Given the description of an element on the screen output the (x, y) to click on. 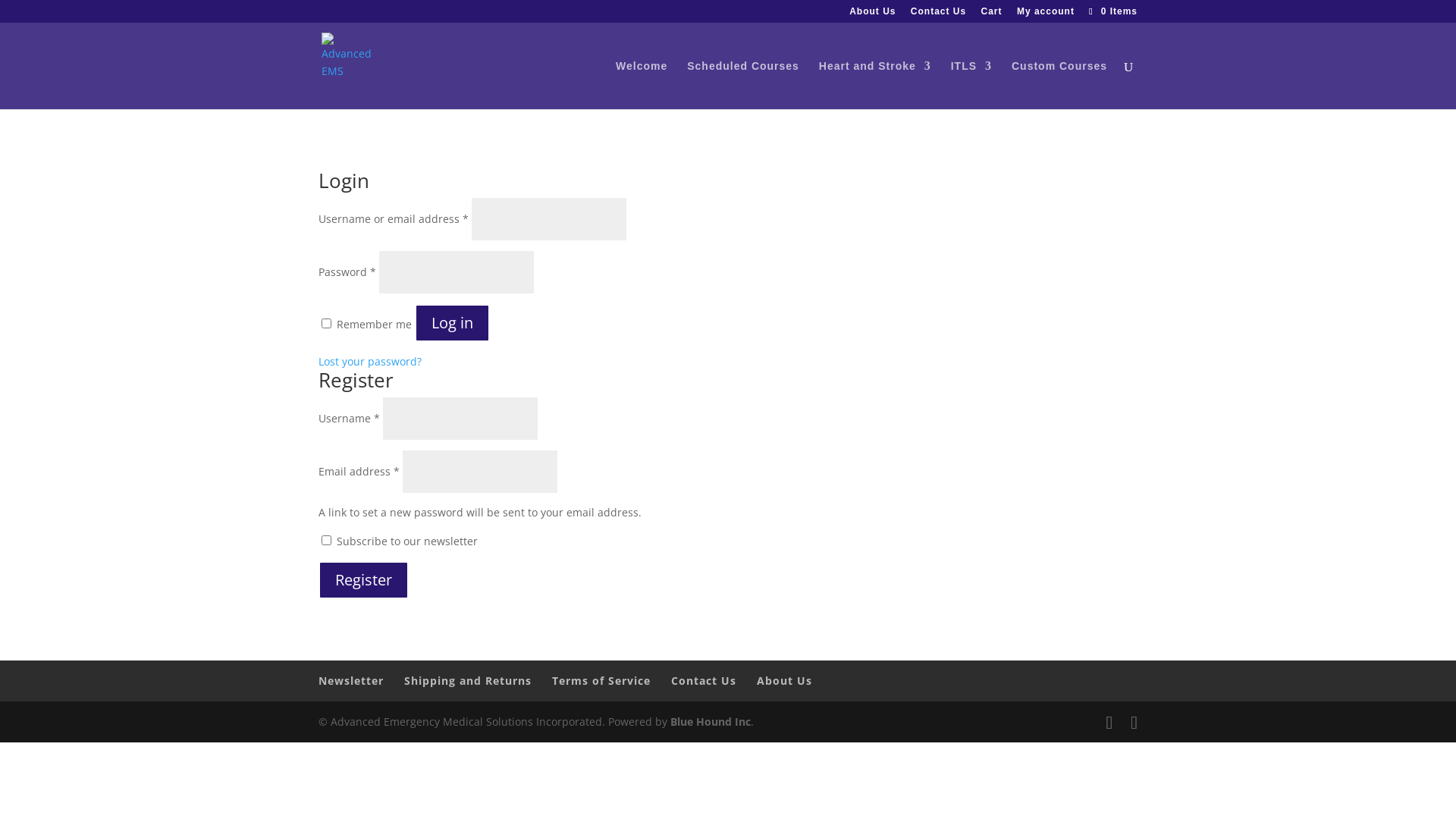
Log in Element type: text (451, 323)
Welcome Element type: text (641, 84)
Custom Courses Element type: text (1059, 84)
Cart Element type: text (991, 14)
About Us Element type: text (784, 680)
Register Element type: text (363, 580)
Contact Us Element type: text (938, 14)
ITLS Element type: text (970, 84)
Contact Us Element type: text (703, 680)
Terms of Service Element type: text (601, 680)
Heart and Stroke Element type: text (875, 84)
Shipping and Returns Element type: text (467, 680)
My account Element type: text (1045, 14)
About Us Element type: text (872, 14)
0 Items Element type: text (1111, 11)
Lost your password? Element type: text (369, 361)
Scheduled Courses Element type: text (743, 84)
Newsletter Element type: text (350, 680)
Blue Hound Inc Element type: text (710, 721)
